Given the description of an element on the screen output the (x, y) to click on. 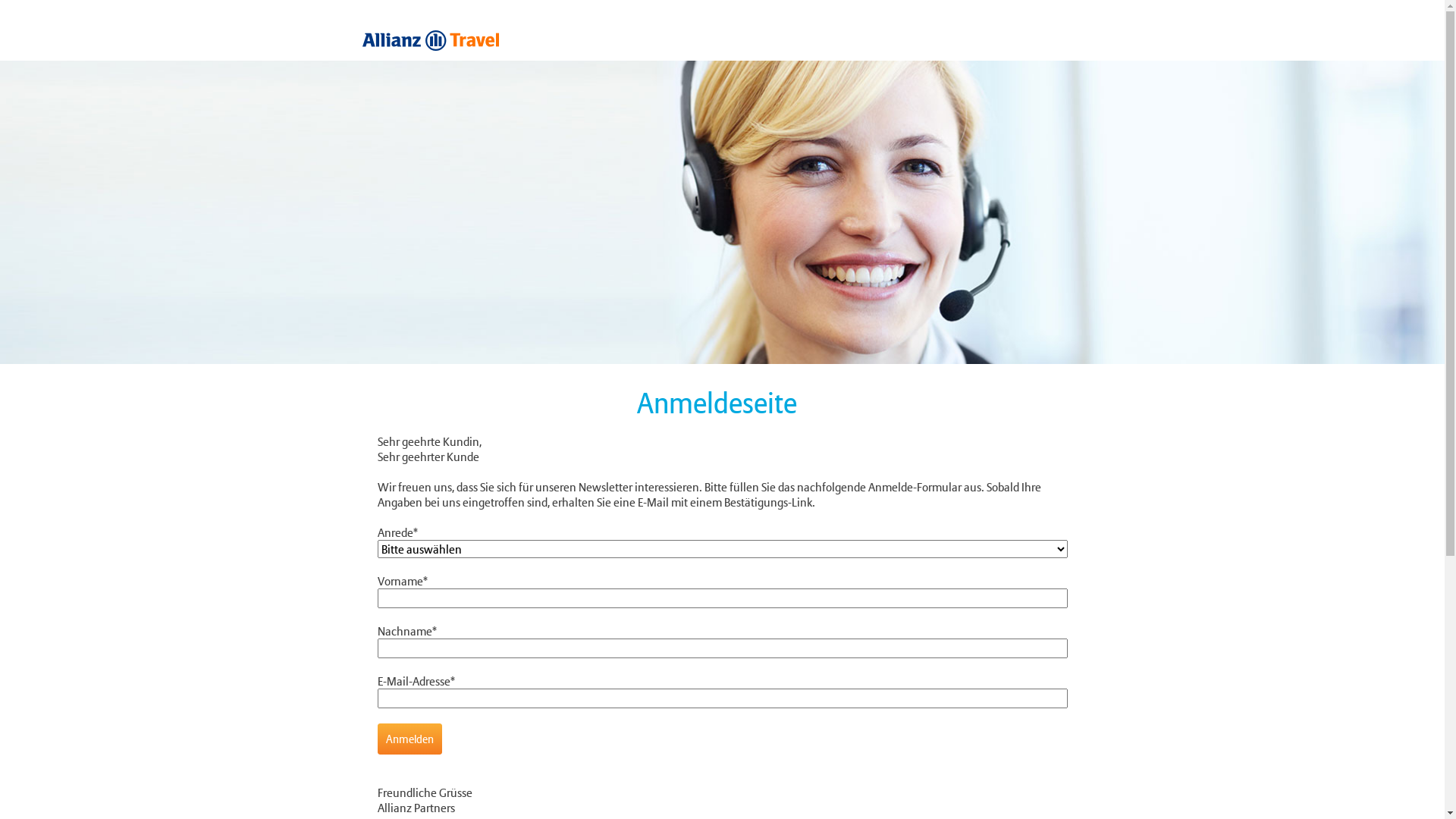
Anmelden Element type: text (409, 738)
